Given the description of an element on the screen output the (x, y) to click on. 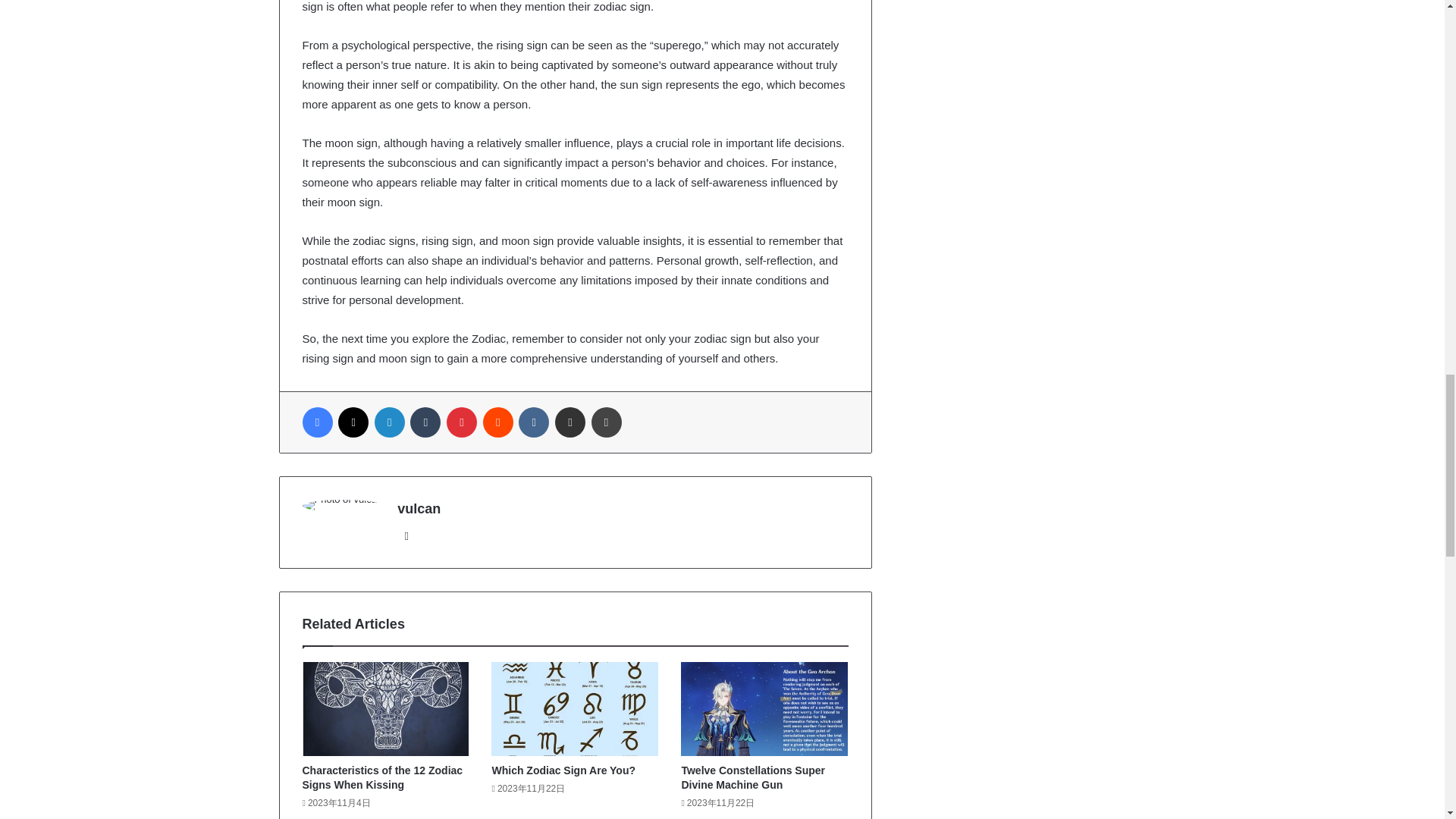
LinkedIn (389, 422)
Tumblr (425, 422)
Twelve Constellations Super Divine Machine Gun (753, 777)
Print (606, 422)
Pinterest (461, 422)
Facebook (316, 422)
Characteristics of the 12 Zodiac Signs When Kissing (382, 777)
Reddit (498, 422)
Website (405, 536)
X (352, 422)
VKontakte (533, 422)
Which Zodiac Sign Are You? (563, 770)
vulcan (419, 508)
Share via Email (569, 422)
